Given the description of an element on the screen output the (x, y) to click on. 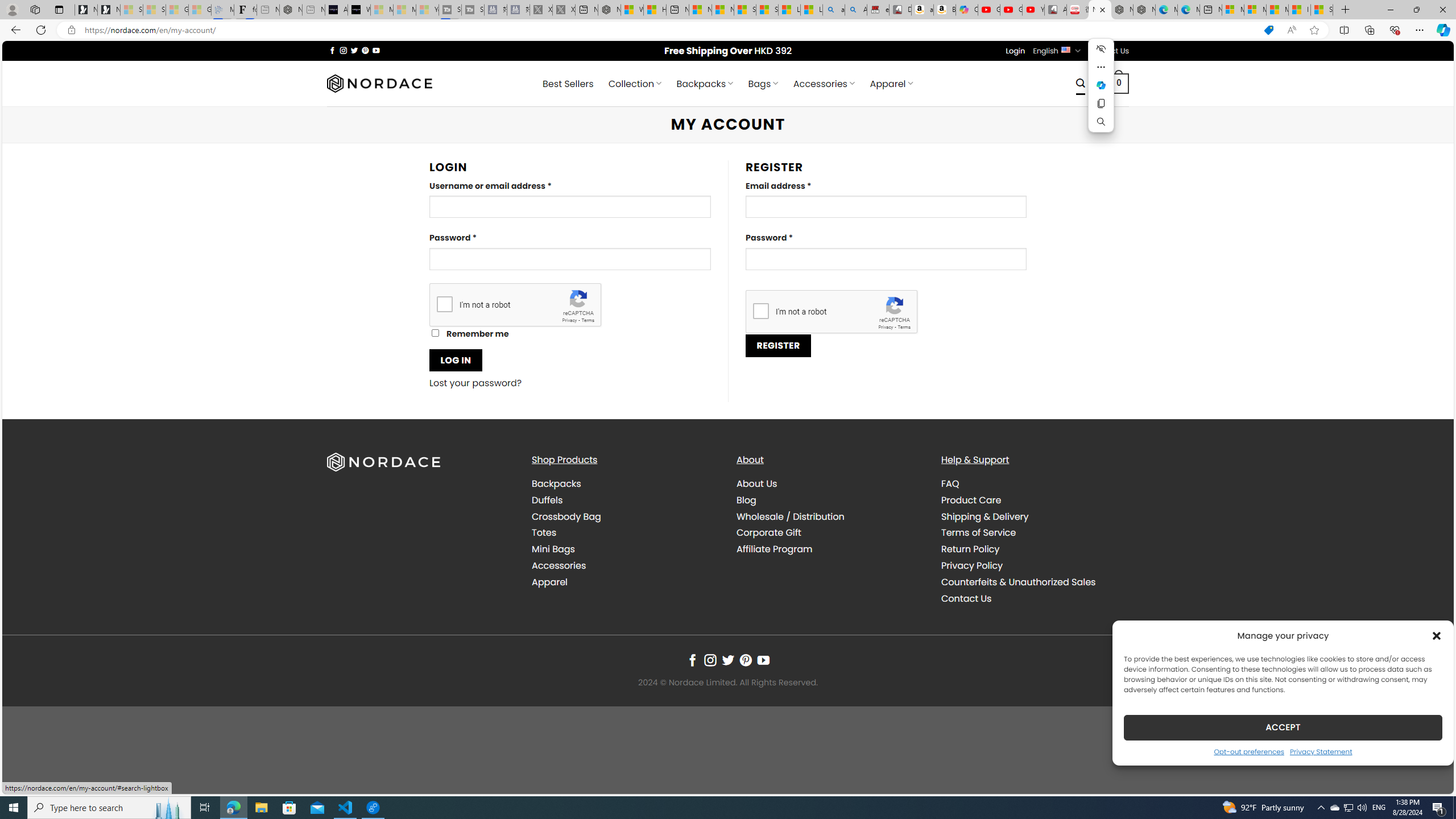
Affiliate Program (830, 549)
New tab - Sleeping (313, 9)
FAQ (949, 483)
Workspaces (34, 9)
Collections (1369, 29)
I Gained 20 Pounds of Muscle in 30 Days! | Watch (1300, 9)
Streaming Coverage | T3 - Sleeping (449, 9)
Nordace (379, 83)
Address and search bar (669, 29)
Split screen (1344, 29)
Hide menu (1101, 49)
